Given the description of an element on the screen output the (x, y) to click on. 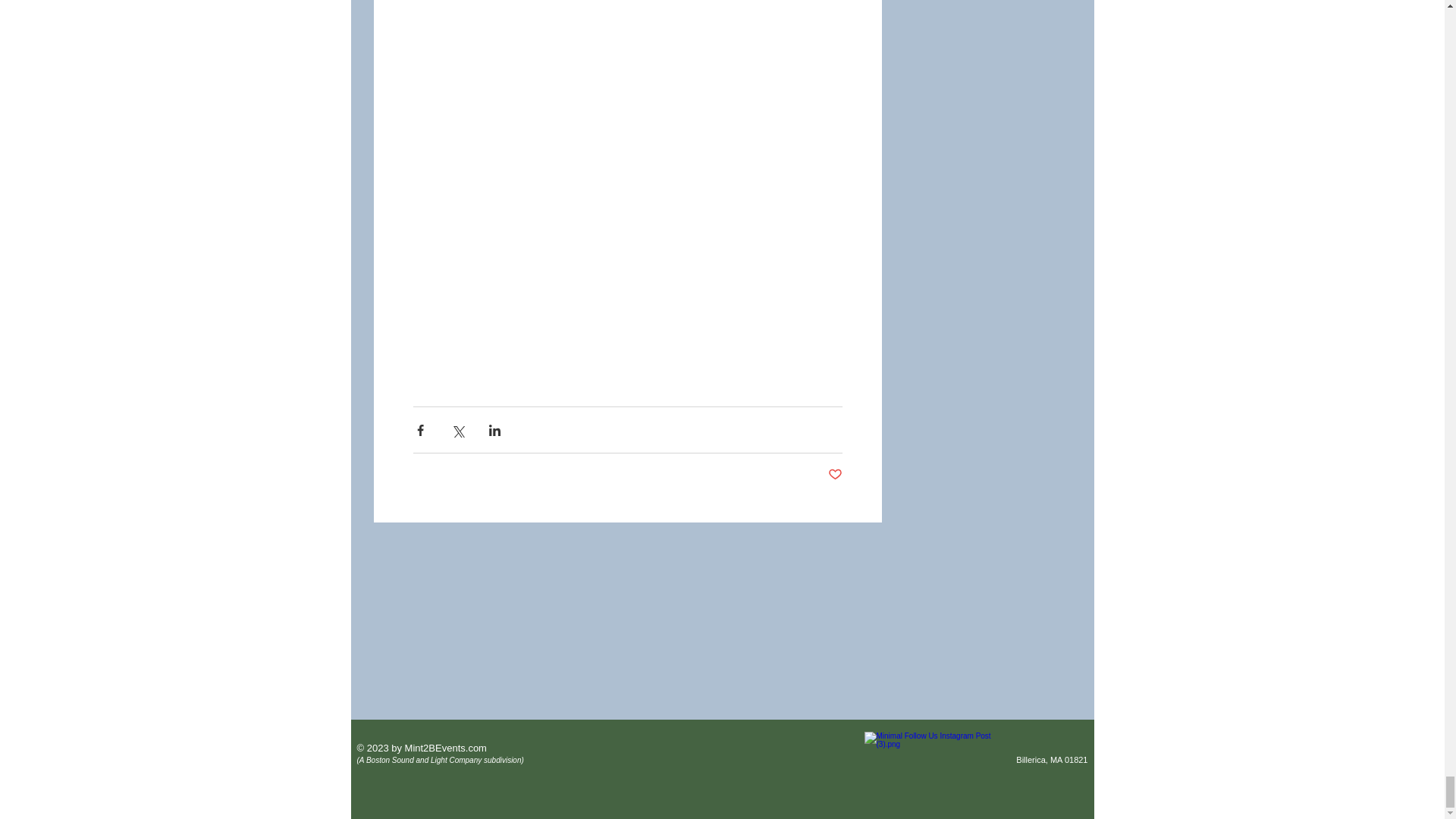
Post not marked as liked (835, 474)
